Given the description of an element on the screen output the (x, y) to click on. 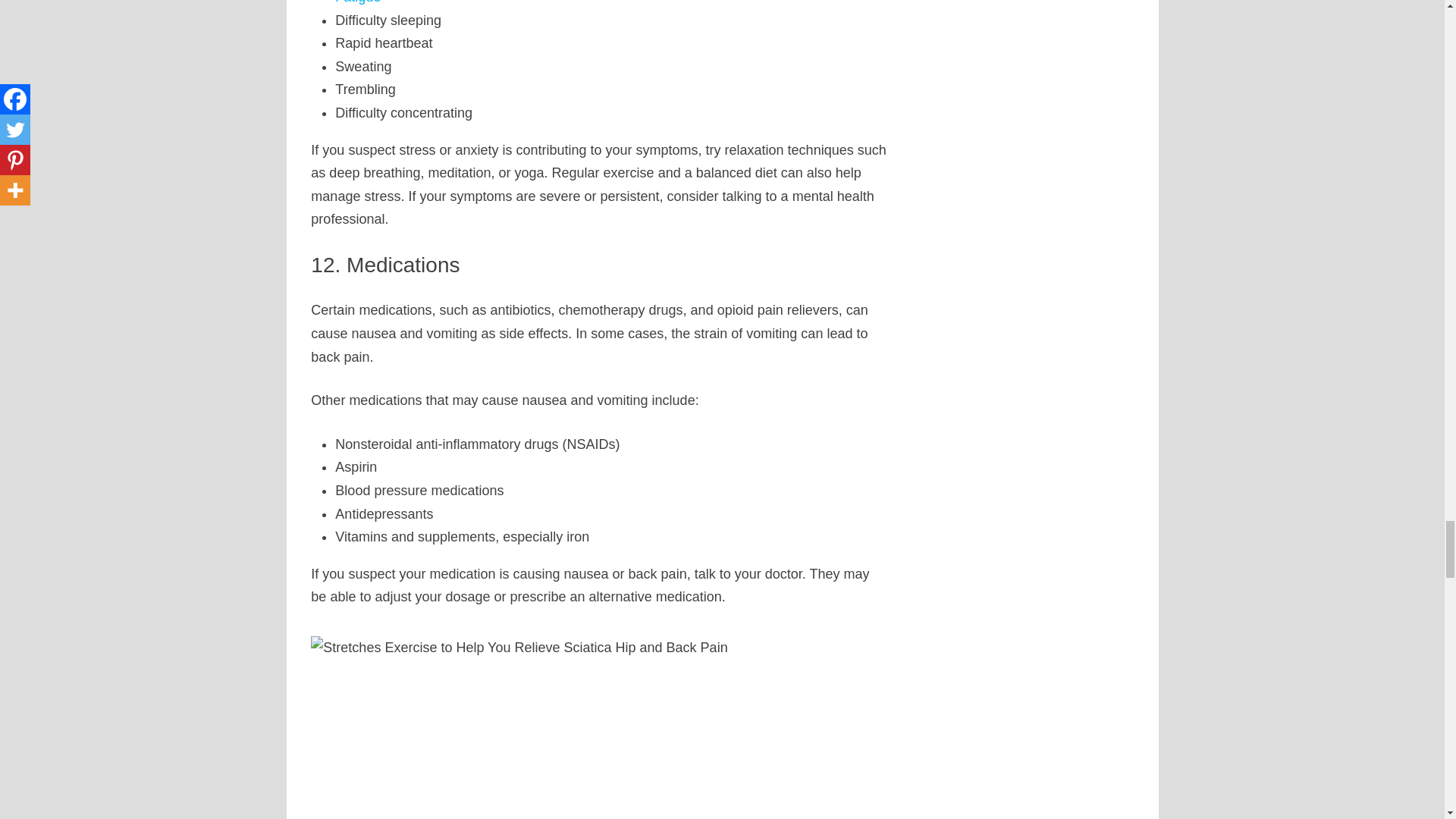
Fatigue (357, 2)
